Given the description of an element on the screen output the (x, y) to click on. 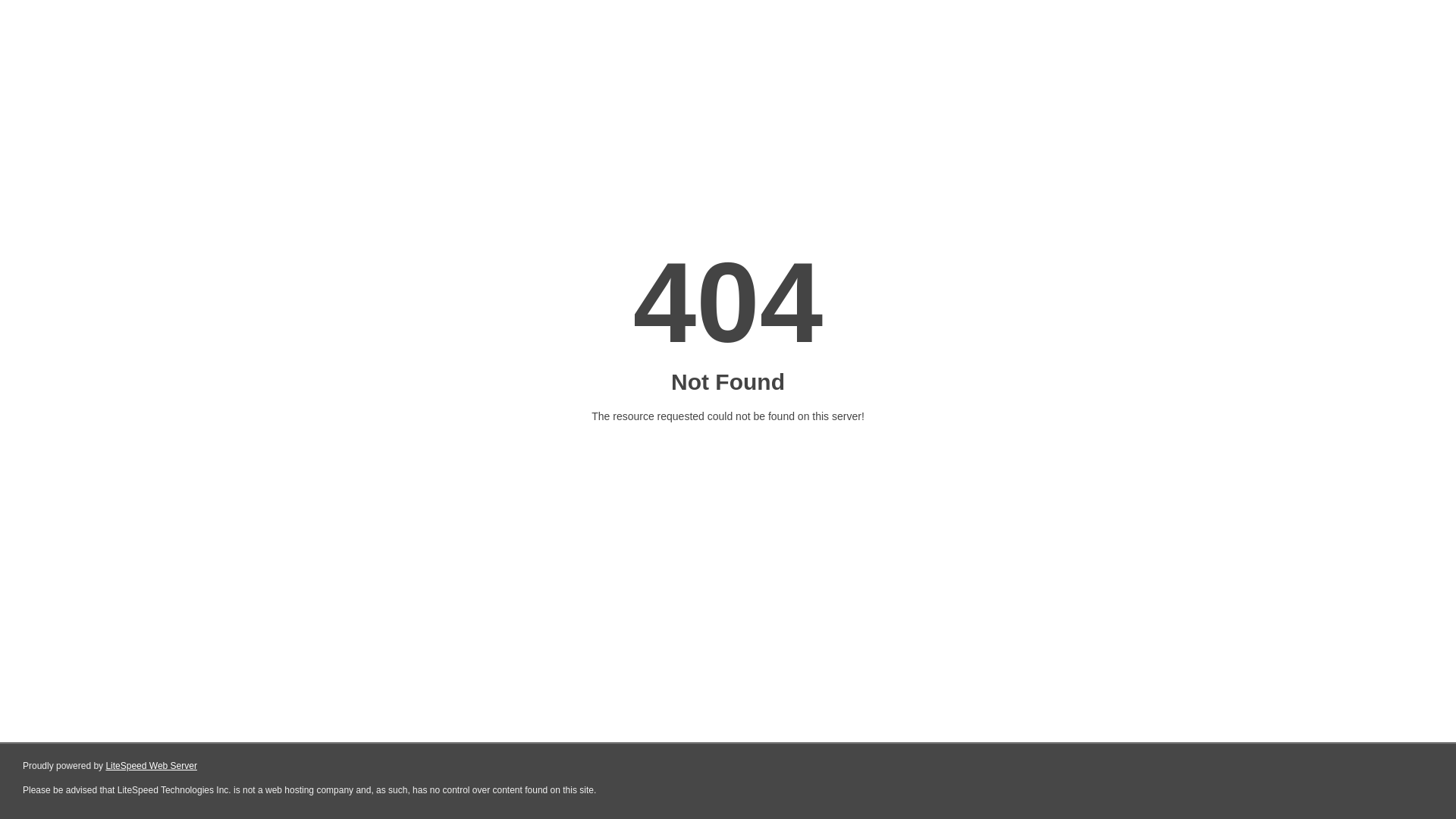
LiteSpeed Web Server Element type: text (151, 765)
